Given the description of an element on the screen output the (x, y) to click on. 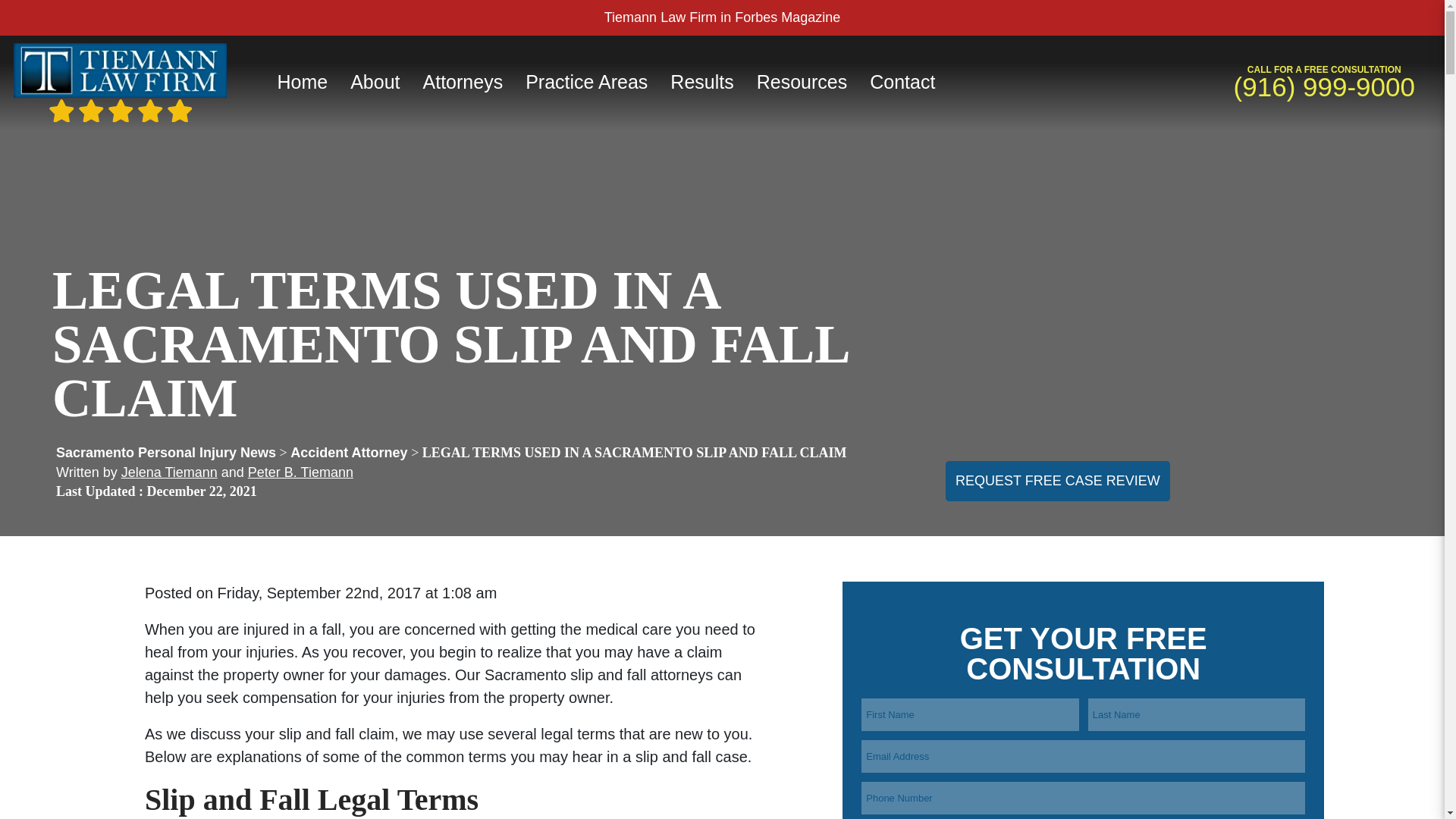
Attorneys (463, 82)
Resources (802, 82)
About (374, 82)
Home (301, 82)
Practice Areas (586, 82)
Practice Areas (586, 82)
Attorneys (463, 82)
Home (301, 82)
About (374, 82)
Tiemann Law Firm in Forbes Magazine (722, 17)
Contact (902, 82)
Results (701, 82)
